Given the description of an element on the screen output the (x, y) to click on. 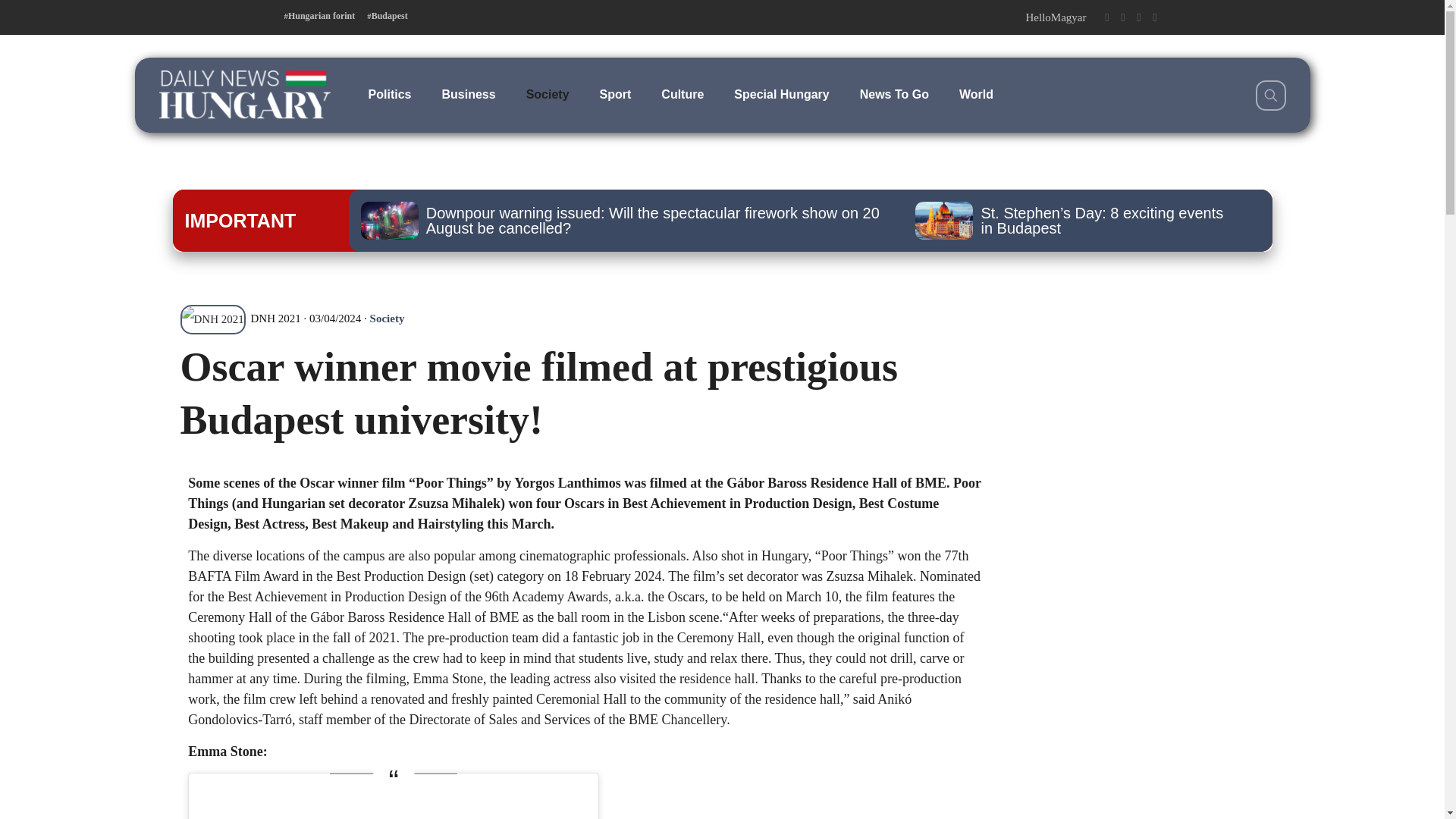
News To Go (893, 94)
DNH 2021 (240, 318)
Budapest (386, 15)
Instagram (1138, 17)
Facebook (1106, 17)
Society (386, 318)
Daily News Hungary (244, 94)
RSS (1155, 17)
Politics (389, 94)
